Given the description of an element on the screen output the (x, y) to click on. 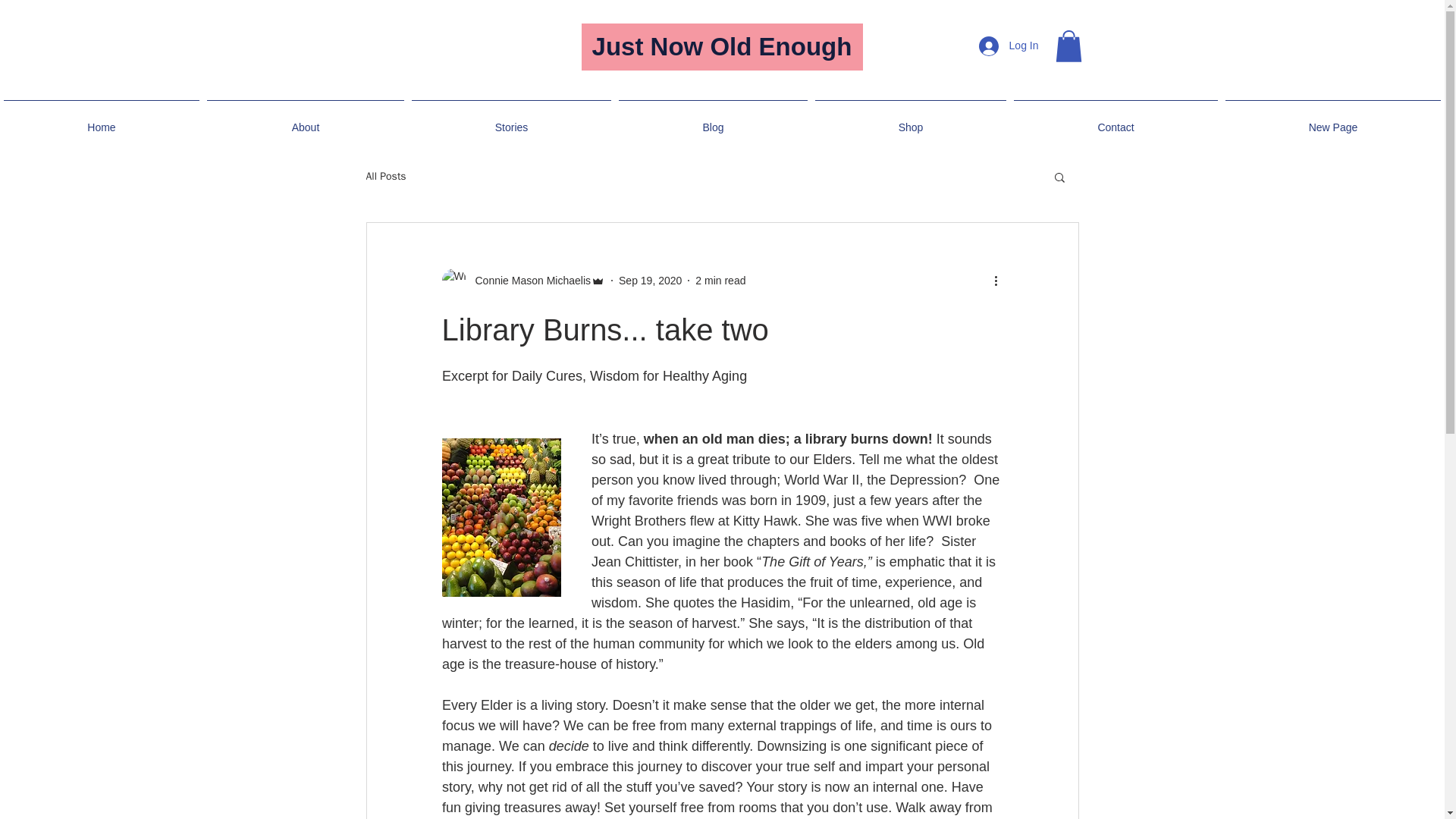
Connie Mason Michaelis (528, 280)
Stories (510, 119)
Contact (1115, 119)
About (305, 119)
Blog (712, 119)
Just Now Old Enough (720, 46)
Shop (910, 119)
2 min read (720, 280)
Home (101, 119)
Connie Mason Michaelis (523, 280)
All Posts (385, 176)
Sep 19, 2020 (649, 280)
Log In (1008, 45)
